Given the description of an element on the screen output the (x, y) to click on. 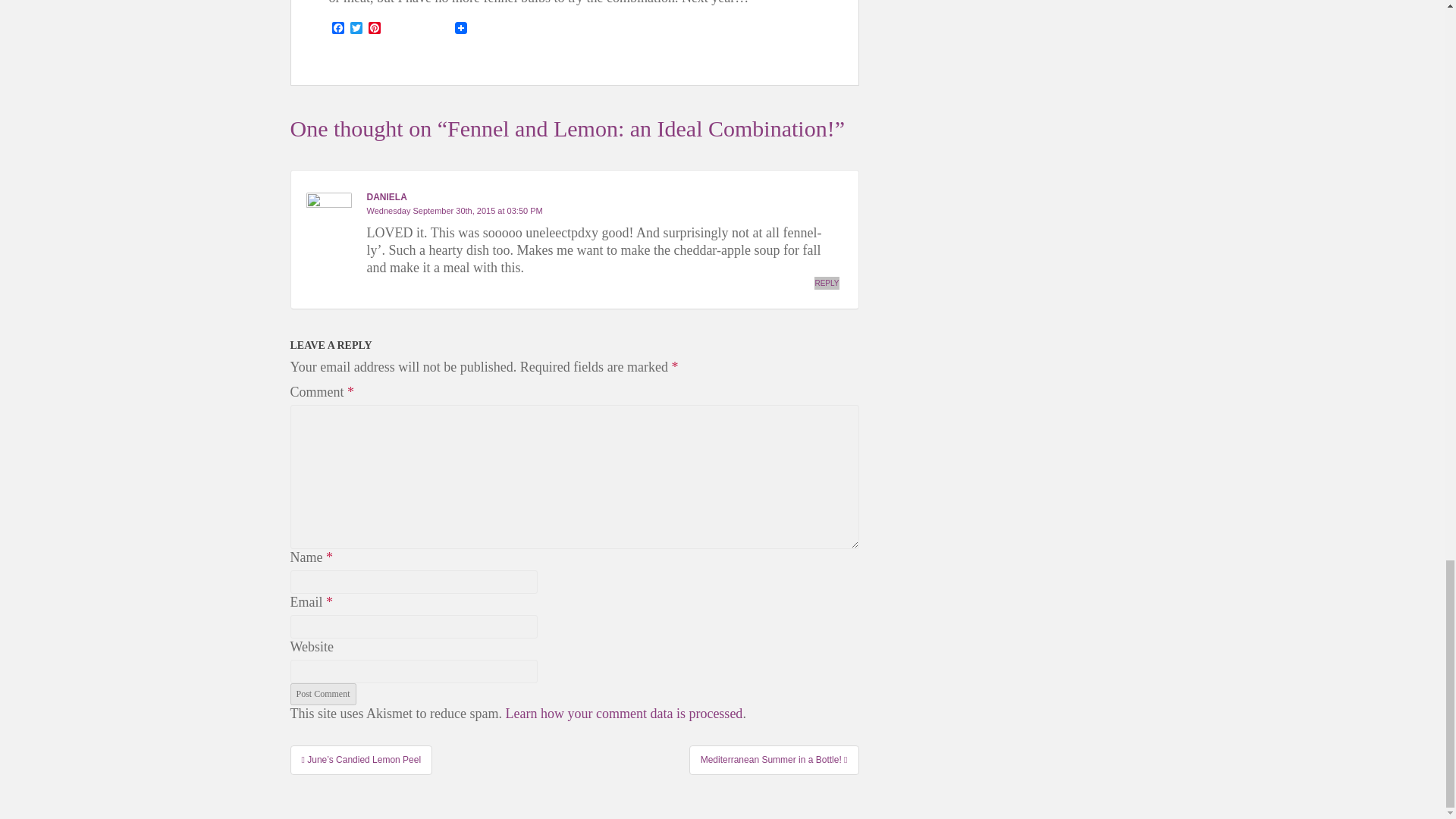
DANIELA (386, 196)
Pinterest (374, 29)
Twitter (356, 29)
Facebook (338, 29)
Wednesday September 30th, 2015 at 03:50 PM (454, 210)
Pinterest (374, 29)
Facebook (338, 29)
Post Comment (322, 694)
Twitter (356, 29)
